Given the description of an element on the screen output the (x, y) to click on. 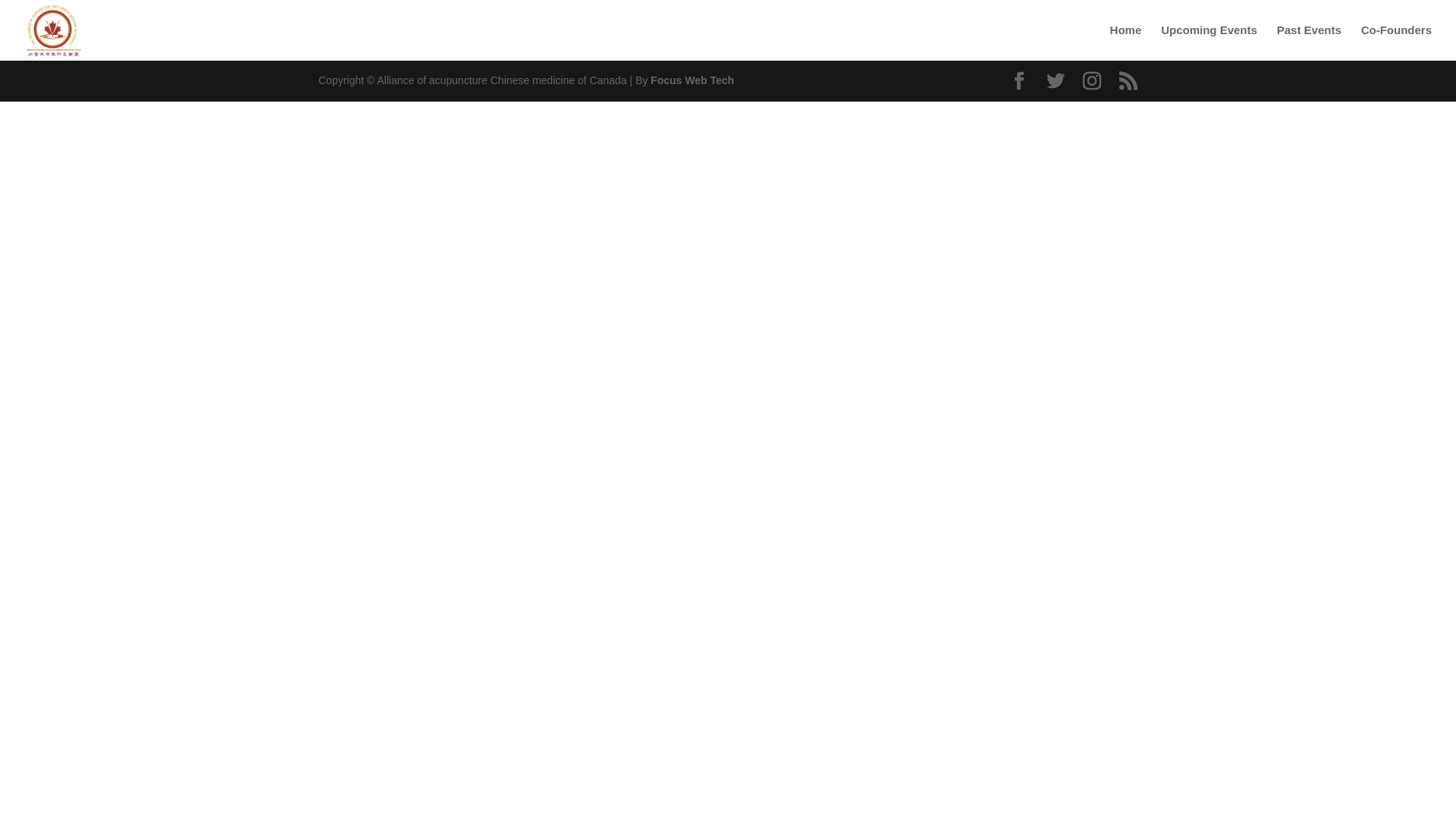
Past Events Element type: text (1309, 42)
Co-Founders Element type: text (1396, 42)
Focus Web Tech Element type: text (692, 80)
Upcoming Events Element type: text (1209, 42)
Home Element type: text (1126, 42)
